Given the description of an element on the screen output the (x, y) to click on. 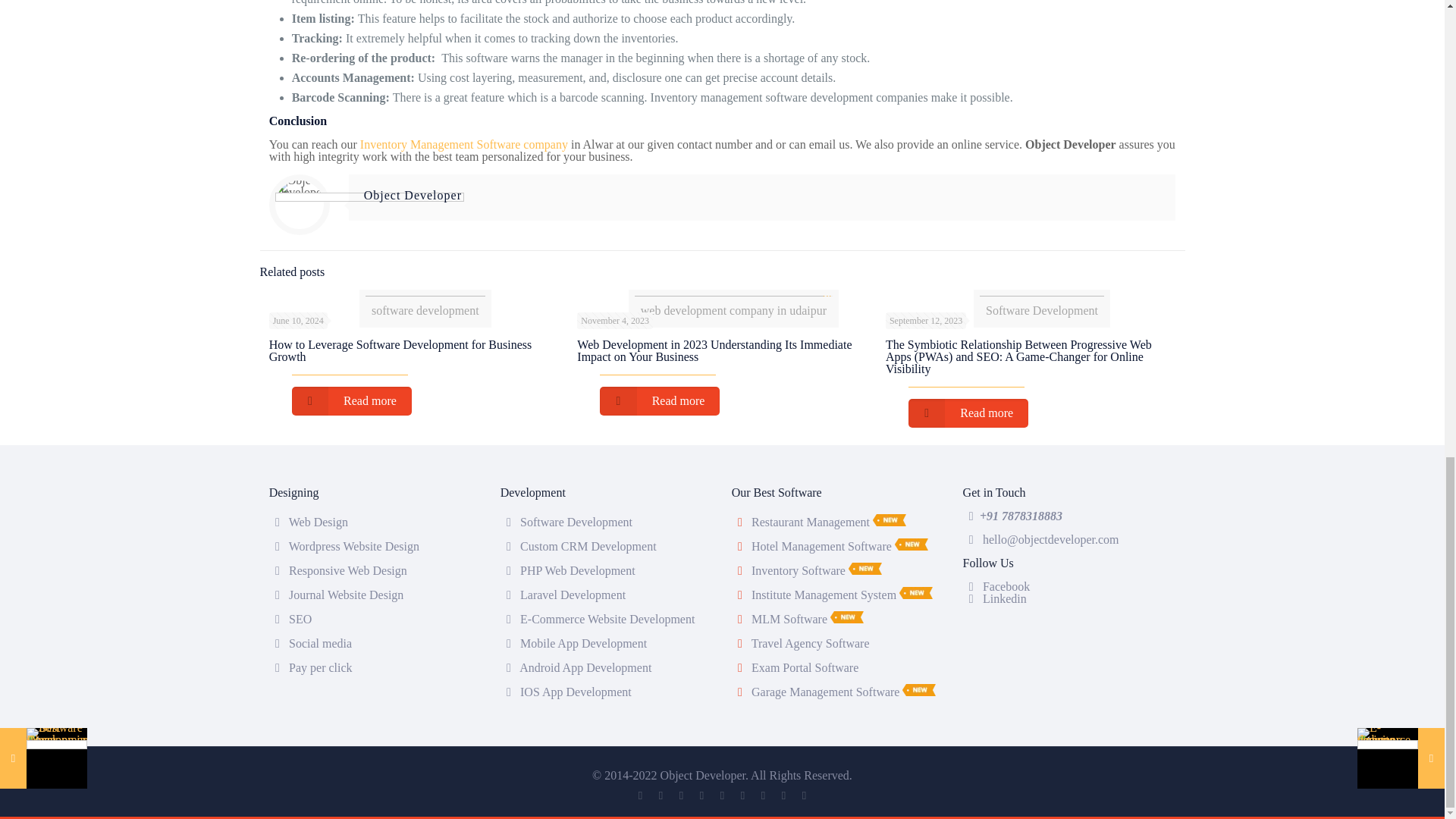
Best CRM Software Development Company in Udaipur (587, 545)
Best Software Development Company in Udaipur (424, 301)
Best Wordpress Website Design Company in Udaipur (353, 545)
Best Laravel Development Company in Udaipur (572, 594)
Google Ad Words Company in Udaipur (320, 667)
Best Web Design Company in Udaipur (317, 521)
Best Software Development Company in Udaipur (1041, 301)
Best Software Development Company in Udaipur (575, 521)
Social Media Marketing Company in Udaipur (320, 643)
Best Php Web Development Company in Udaipur (576, 570)
